Given the description of an element on the screen output the (x, y) to click on. 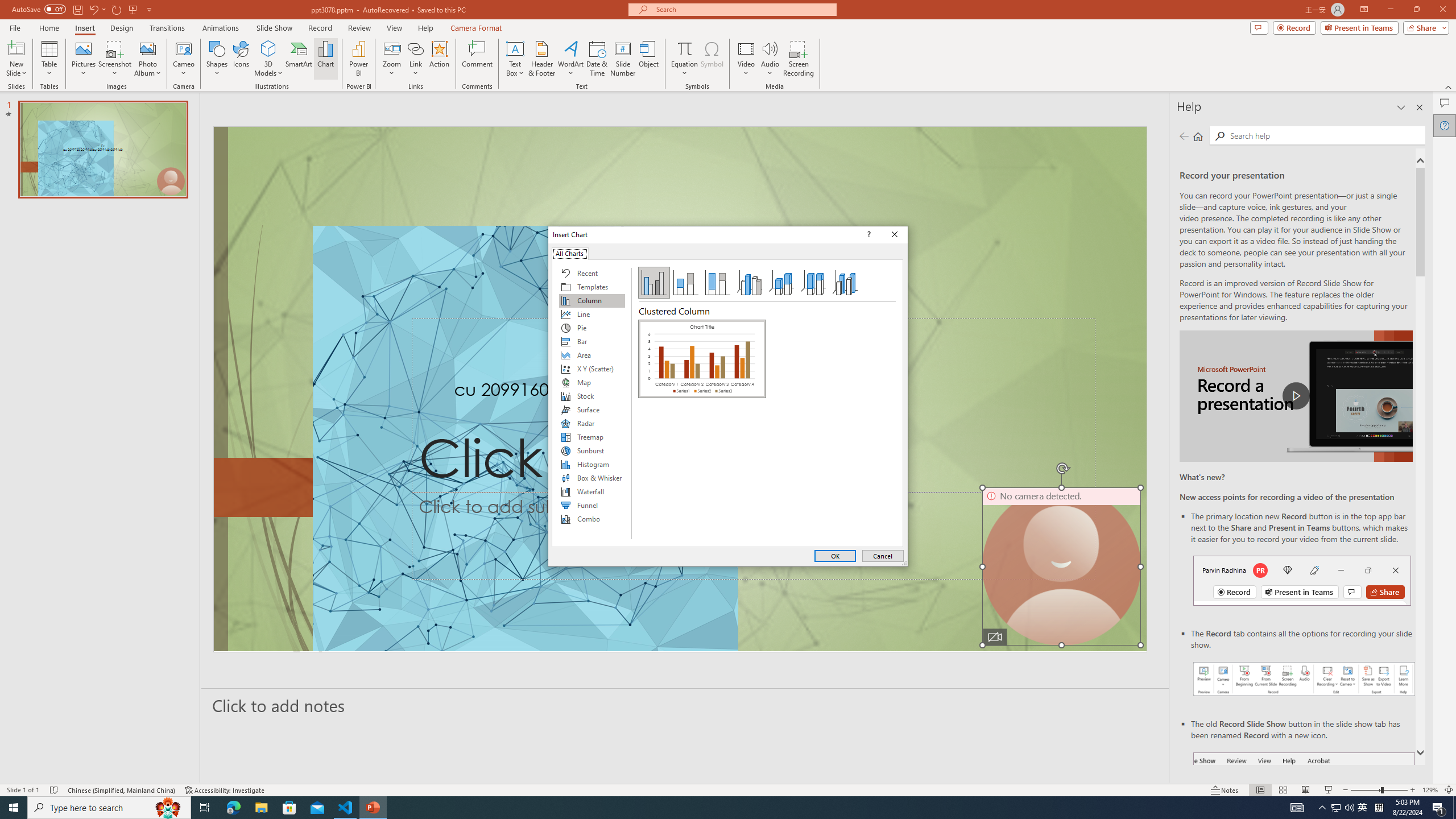
Link (415, 48)
Screenshot (114, 58)
